Given the description of an element on the screen output the (x, y) to click on. 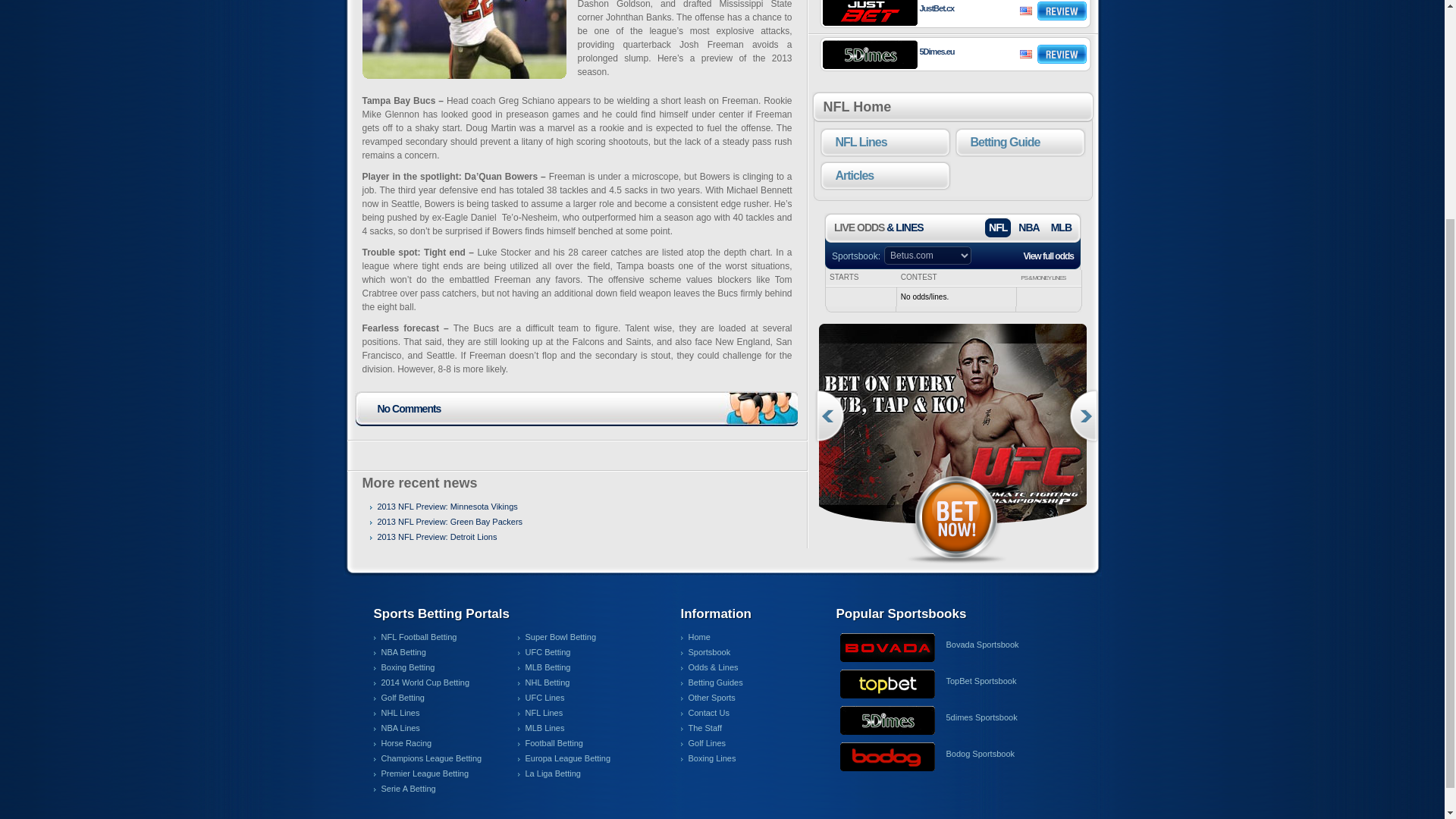
2013 NFL Preview: Minnesota Vikings (443, 506)
View all posts filed under Articles (885, 175)
366x266px (955, 424)
2013 NFL Preview: Green Bay Packers (445, 521)
UFC (955, 425)
2013 NFL Preview: Detroit Lions (433, 536)
doug-martin2 (464, 39)
